Given the description of an element on the screen output the (x, y) to click on. 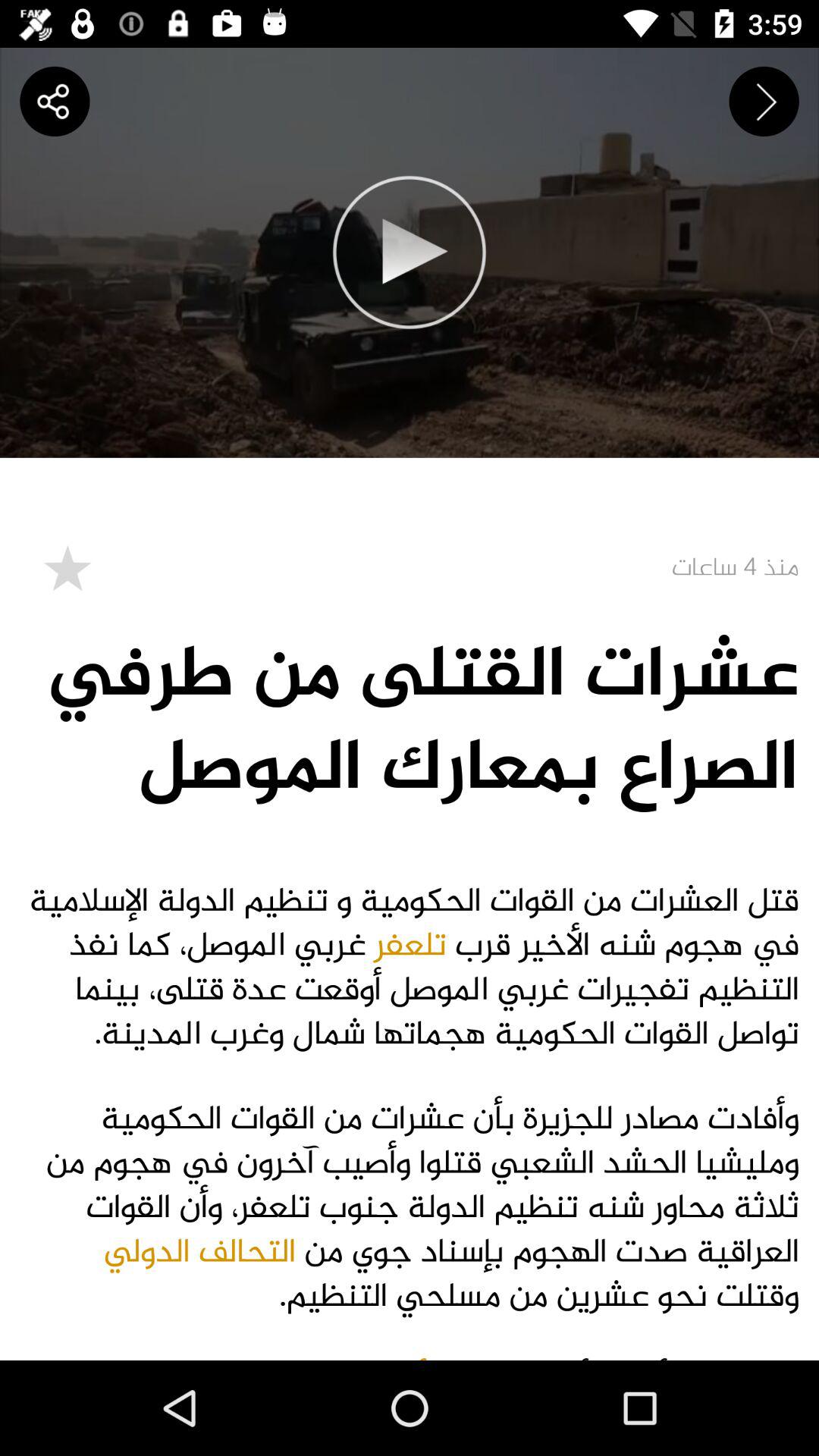
click on play button (409, 252)
select the second phrase from heading (409, 1208)
select the next icon on top right hand side  below time (764, 101)
